Given the description of an element on the screen output the (x, y) to click on. 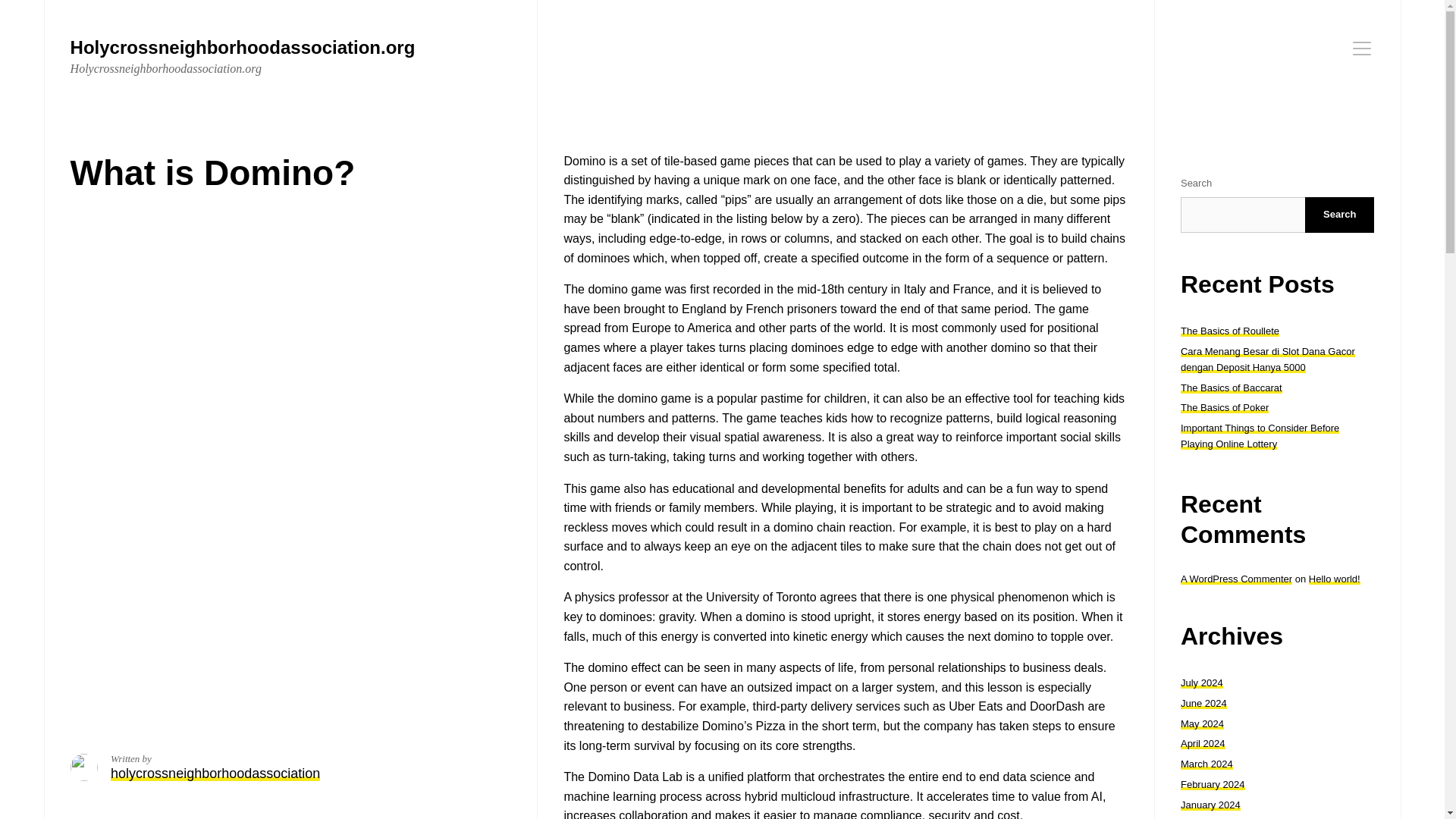
Hello world! (1333, 578)
July 2024 (1201, 682)
March 2024 (1206, 763)
April 2024 (1202, 743)
holycrossneighborhoodassociation (215, 773)
The Basics of Baccarat (1231, 387)
Menu (1361, 48)
June 2024 (1203, 703)
Search (1339, 214)
January 2024 (1210, 804)
May 2024 (1202, 723)
Important Things to Consider Before Playing Online Lottery (1259, 435)
February 2024 (1212, 784)
